Given the description of an element on the screen output the (x, y) to click on. 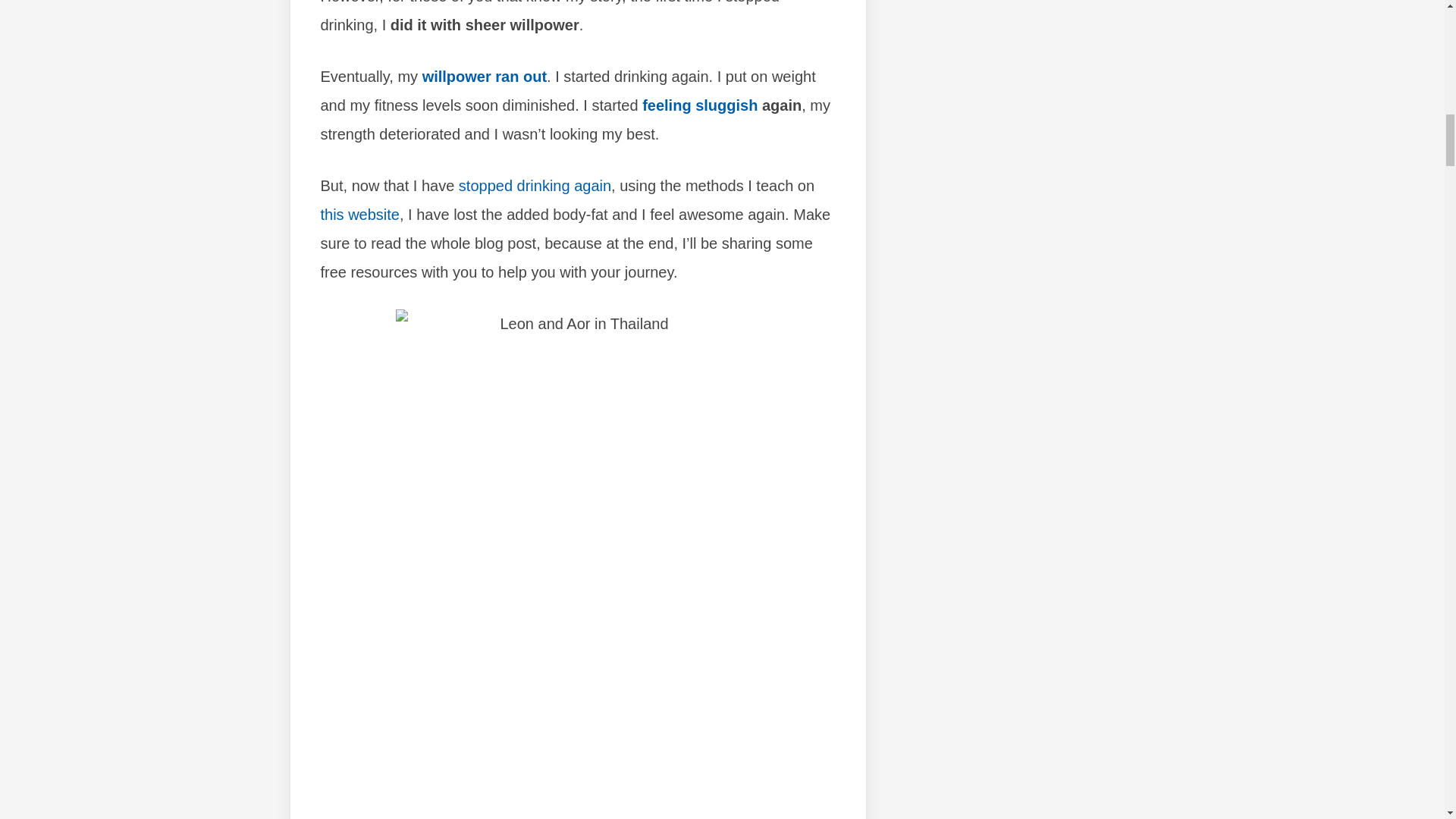
willpower ran out (484, 76)
feeling sluggish (699, 105)
this website (359, 214)
stopped drinking again (534, 185)
